Given the description of an element on the screen output the (x, y) to click on. 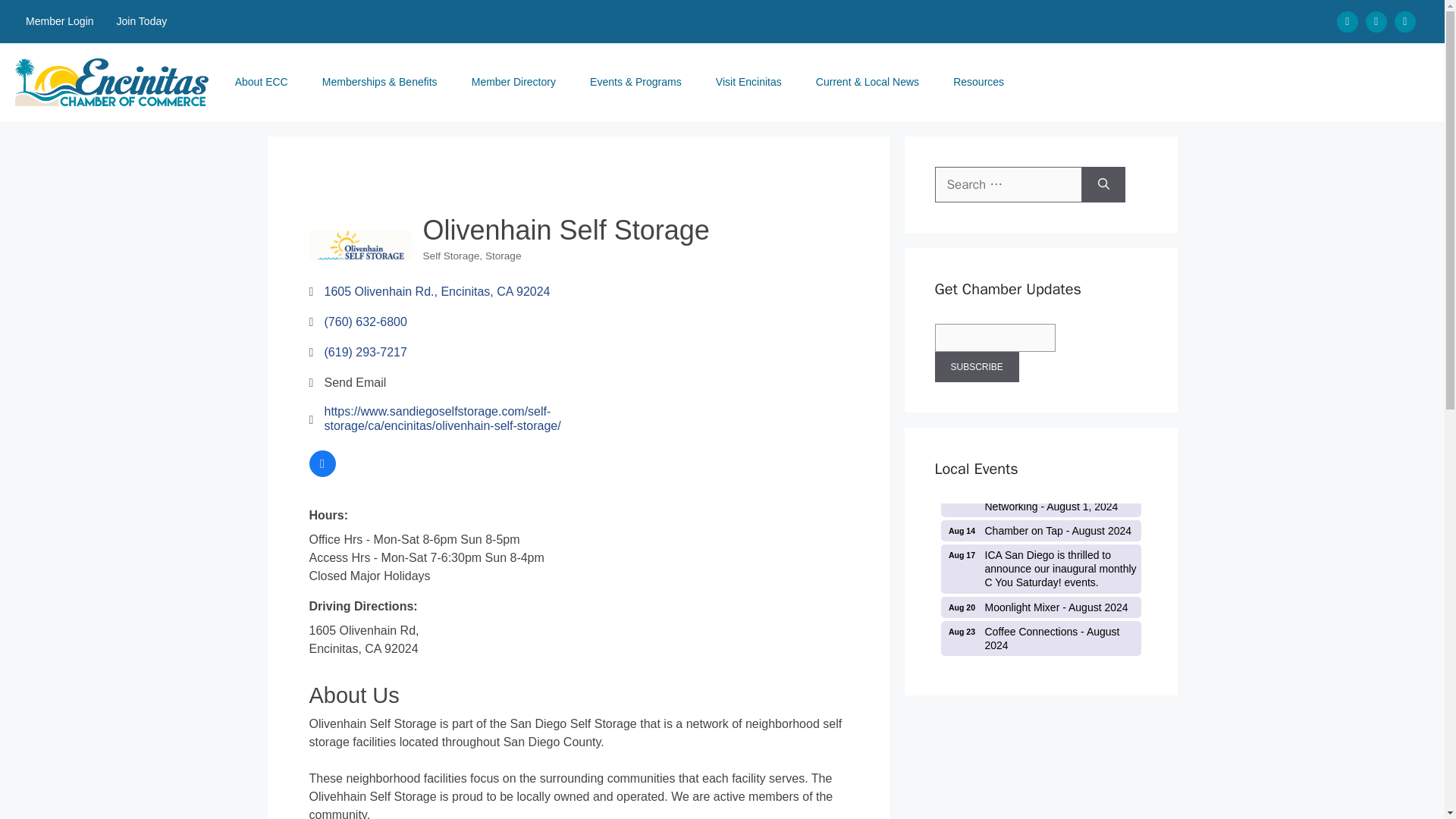
Olivenhain Self Storage (360, 245)
Moonlight Mixer - August 2024 (1040, 607)
Member Directory (519, 82)
Coffee Connections - August 2024 (1040, 638)
Aug 23 (962, 631)
View on Facebook (1040, 607)
Rising Star - September 2024 (322, 472)
Join Today (1040, 669)
Young Professionals Beachside Networking - August 1, 2024 (141, 21)
Rising Star - September 2024 (1040, 498)
Young Professionals Beachside Networking - August 1, 2024 (1040, 530)
Aug 14 (1040, 669)
About ECC (1040, 498)
